Given the description of an element on the screen output the (x, y) to click on. 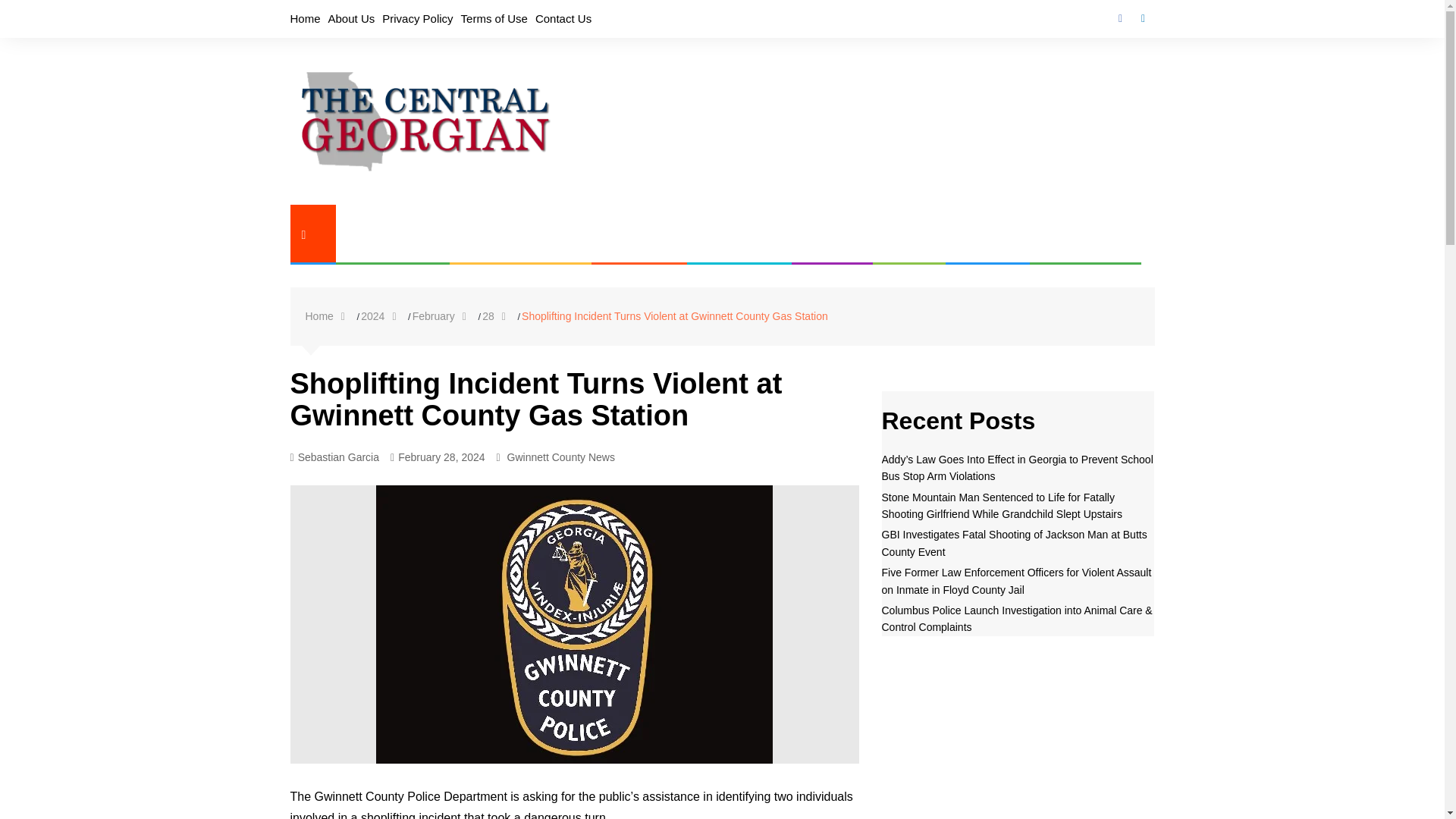
LEGAL (899, 234)
28 (497, 316)
Home (328, 316)
Facebook (1119, 18)
SPORTS (977, 234)
Linkedin (1142, 18)
February (443, 316)
February 28, 2024 (437, 457)
About Us (352, 18)
2024 (382, 316)
LOCAL NEWS (382, 234)
Sebastian Garcia (333, 457)
BUSINESS (629, 234)
Terms of Use (494, 18)
